Given the description of an element on the screen output the (x, y) to click on. 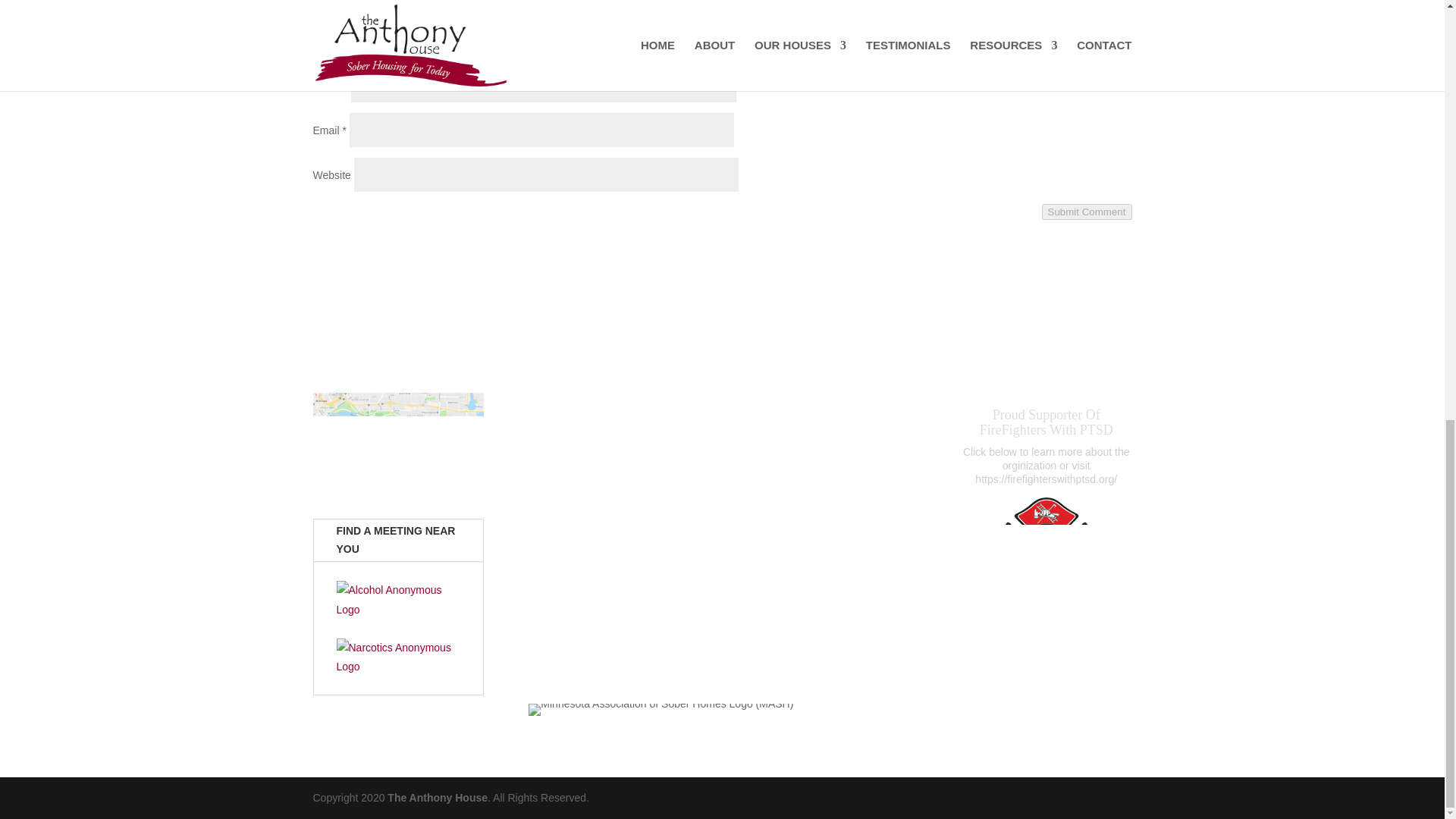
FIND A MEETING NEAR YOU (398, 540)
Submit Comment (1087, 211)
Visit Our Blog (722, 641)
Our Sober Living Homes in MN on Google Maps (398, 444)
The Anthony House (437, 797)
